Given the description of an element on the screen output the (x, y) to click on. 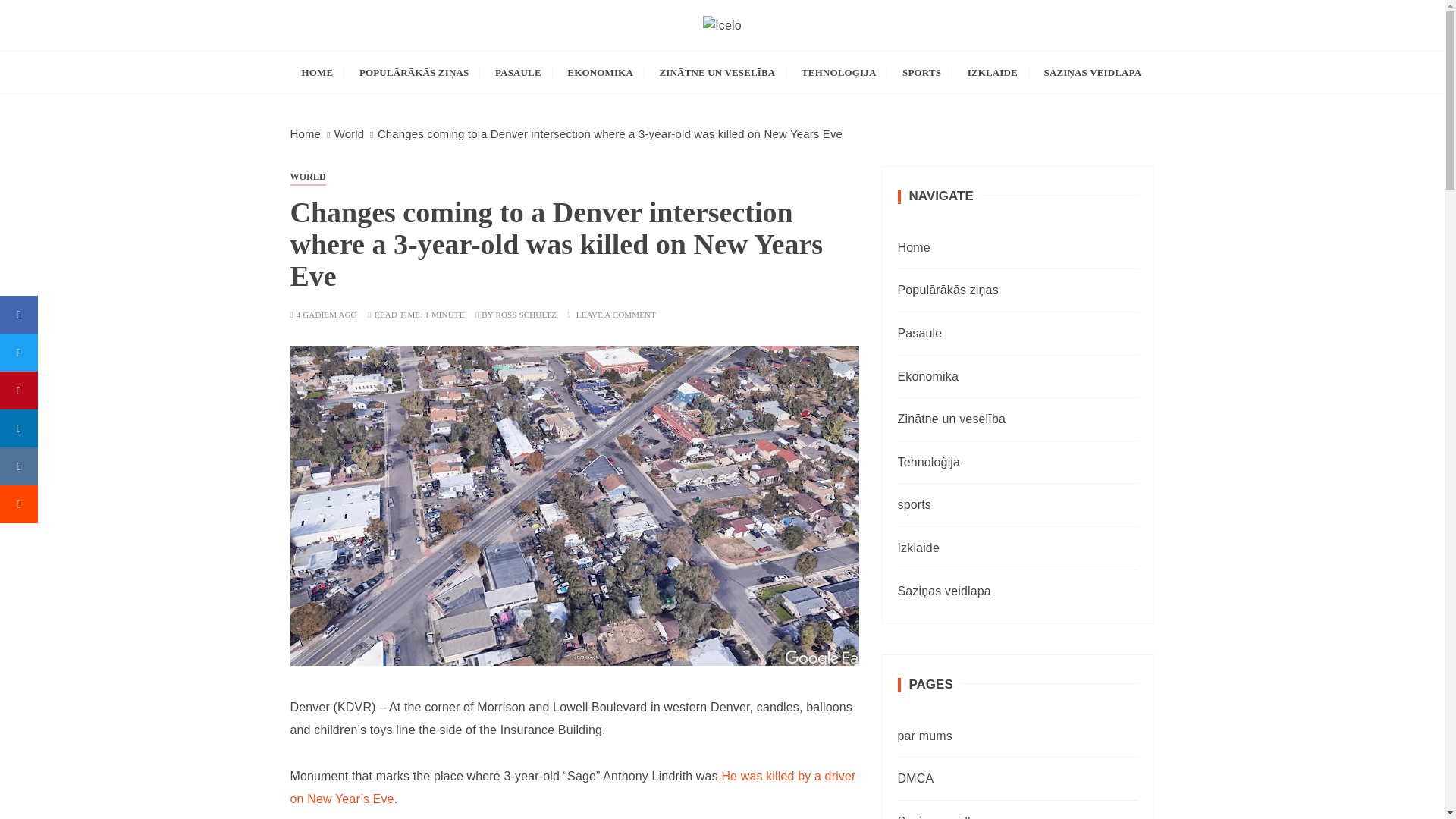
SPORTS (921, 72)
WORLD (306, 176)
ROSS SCHULTZ (525, 315)
EKONOMIKA (600, 72)
World (349, 133)
Home (304, 133)
IZKLAIDE (992, 72)
PASAULE (518, 72)
Icelo (330, 61)
